Given the description of an element on the screen output the (x, y) to click on. 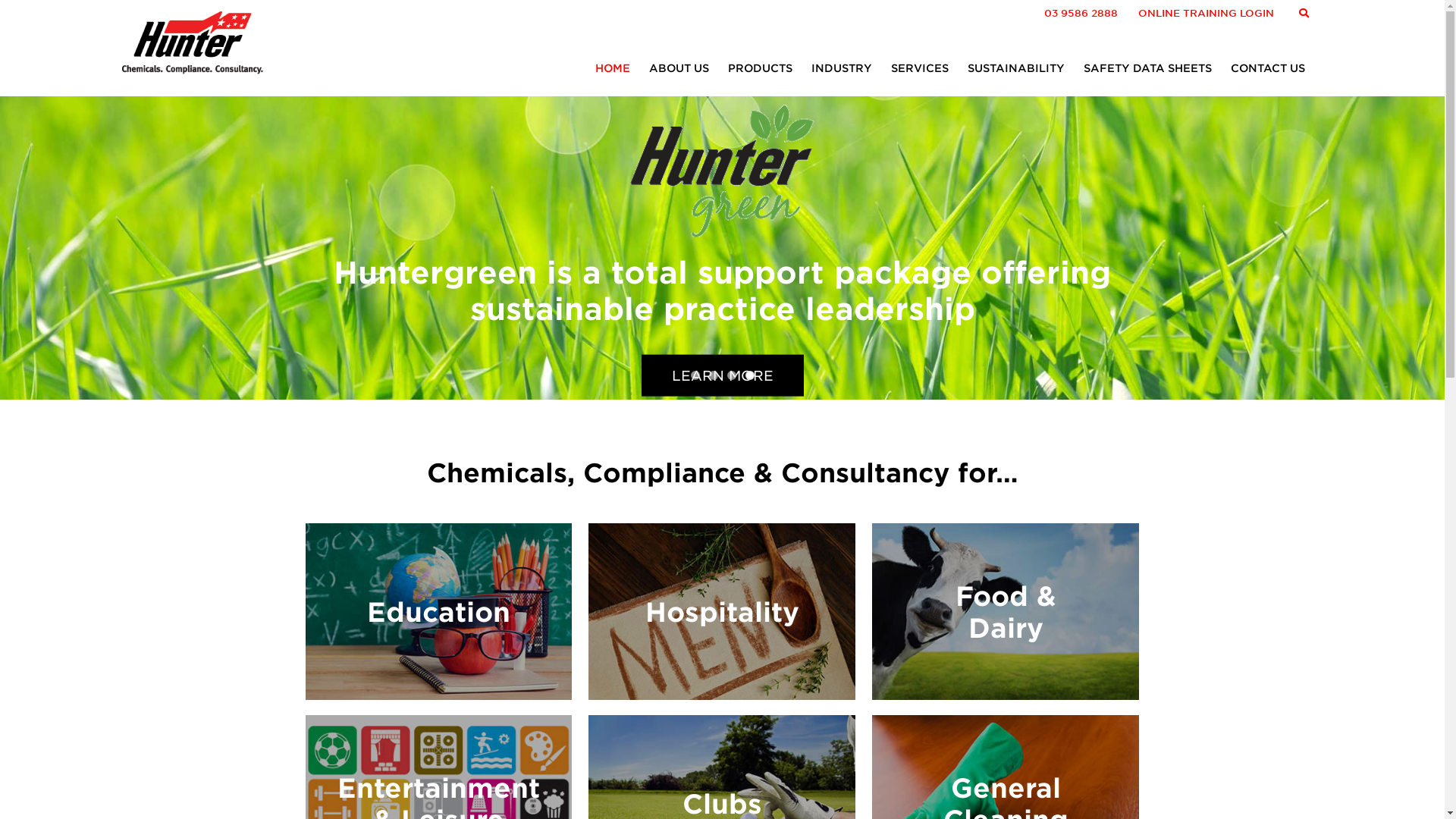
CONTACT US Element type: text (1267, 67)
2 Element type: text (712, 374)
LEARN MORE Element type: text (722, 386)
ABOUT US Element type: text (679, 67)
PRODUCTS Element type: text (760, 67)
1 Element type: text (694, 374)
4 Element type: text (748, 374)
SUSTAINABILITY Element type: text (1015, 67)
INDUSTRY Element type: text (841, 67)
ONLINE TRAINING LOGIN Element type: text (1205, 13)
03 9586 2888 Element type: text (1080, 13)
3 Element type: text (730, 374)
Education Element type: text (437, 611)
Food & Dairy Element type: text (1005, 611)
SERVICES Element type: text (919, 67)
Hospitality Element type: text (721, 611)
SAFETY DATA SHEETS Element type: text (1147, 67)
HOME Element type: text (612, 67)
